Given the description of an element on the screen output the (x, y) to click on. 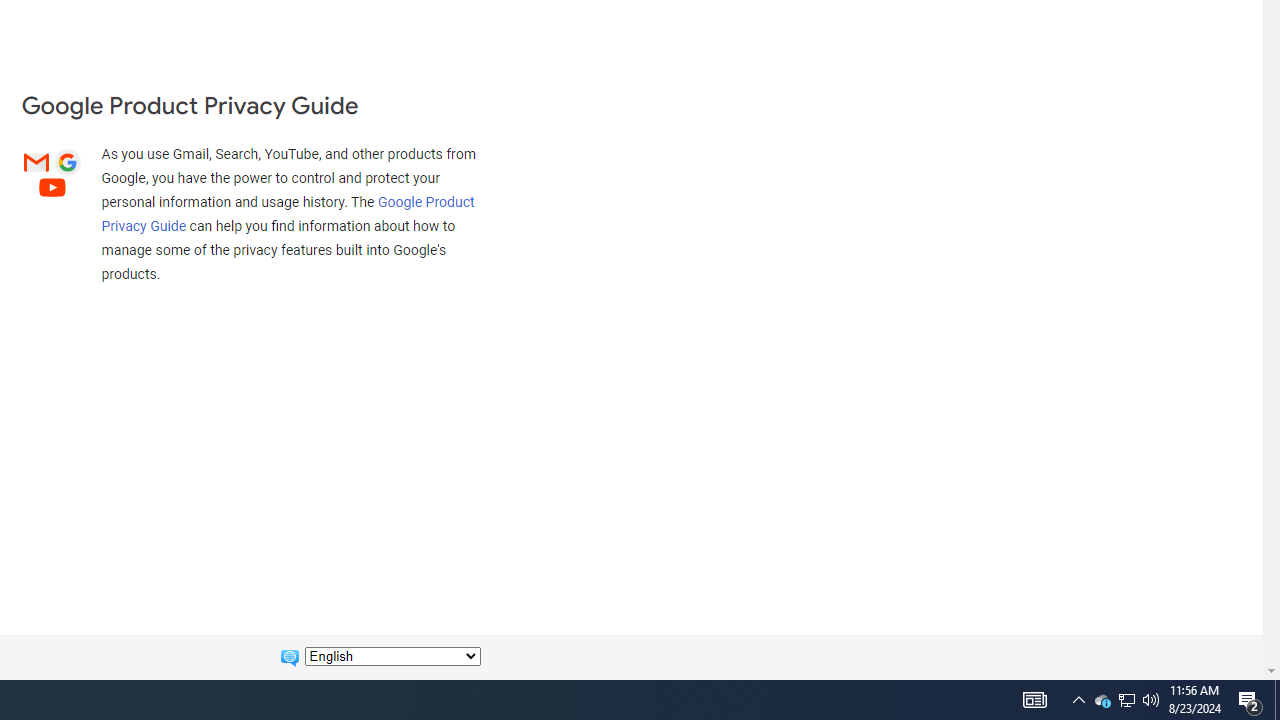
Change language: (392, 656)
Google Product Privacy Guide (287, 213)
